Given the description of an element on the screen output the (x, y) to click on. 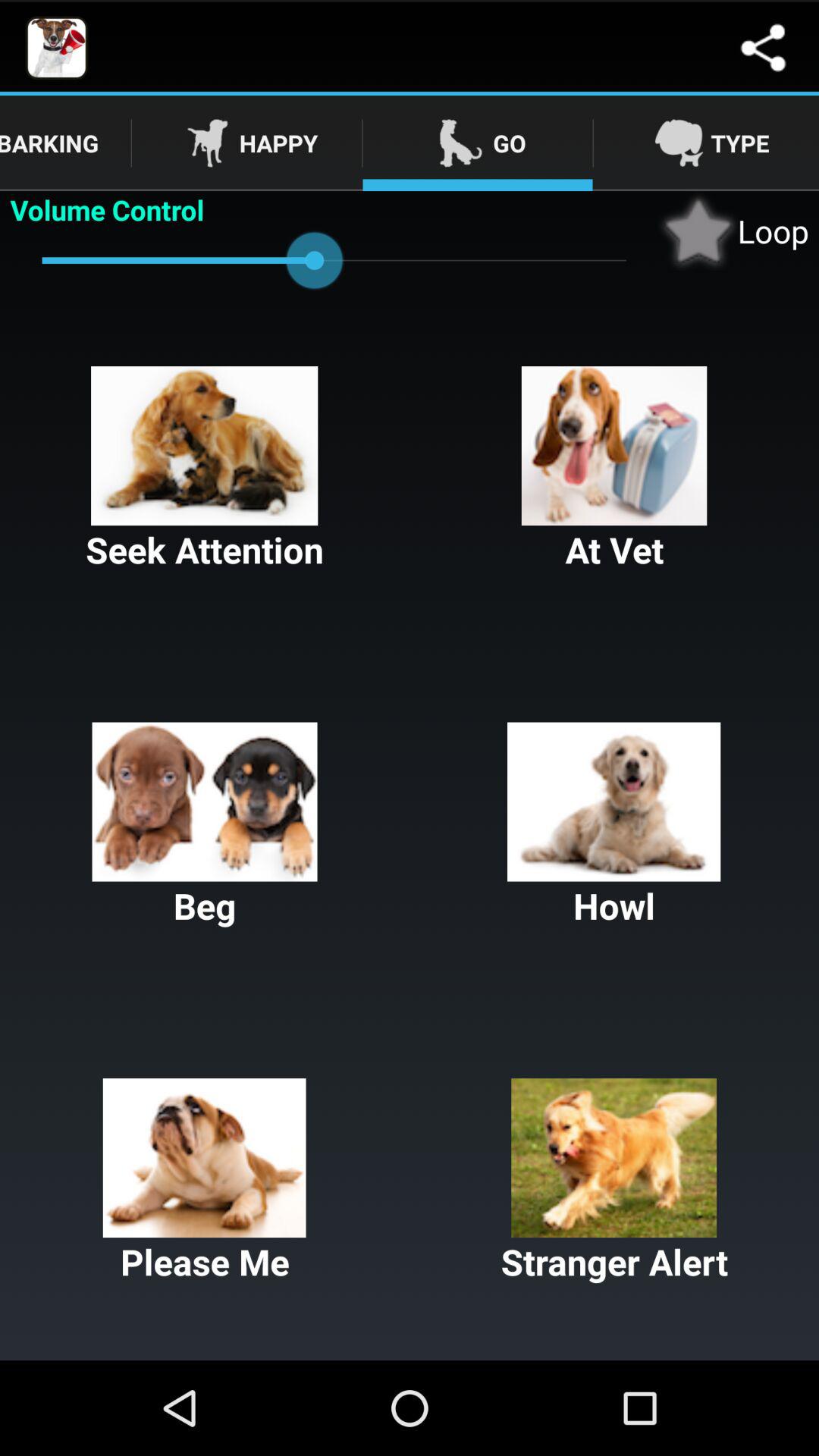
swipe until loop checkbox (733, 230)
